Given the description of an element on the screen output the (x, y) to click on. 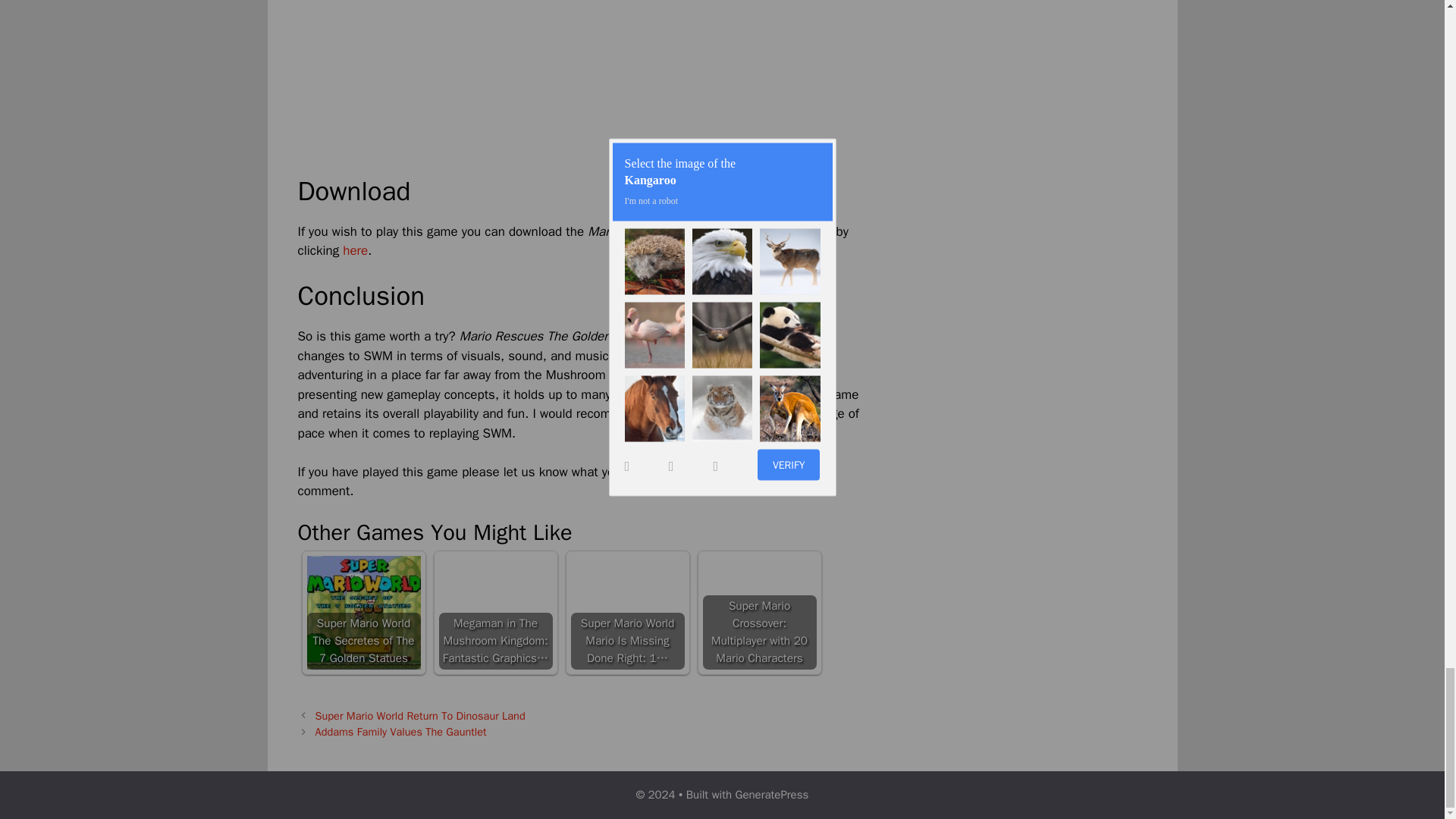
Super Mario Crossover: Multiplayer with 20 Mario Characters (758, 612)
Addams Family Values The Gauntlet (400, 731)
here (355, 250)
Super Mario World The Secretes of The 7 Golden Statues (362, 612)
Super Mario World Return To Dinosaur Land (420, 715)
Next (400, 731)
Super Mario Crossover: Multiplayer with 20 Mario Characters (758, 612)
Previous (420, 715)
Super Mario World The Secretes of The 7 Golden Statues (362, 612)
